Given the description of an element on the screen output the (x, y) to click on. 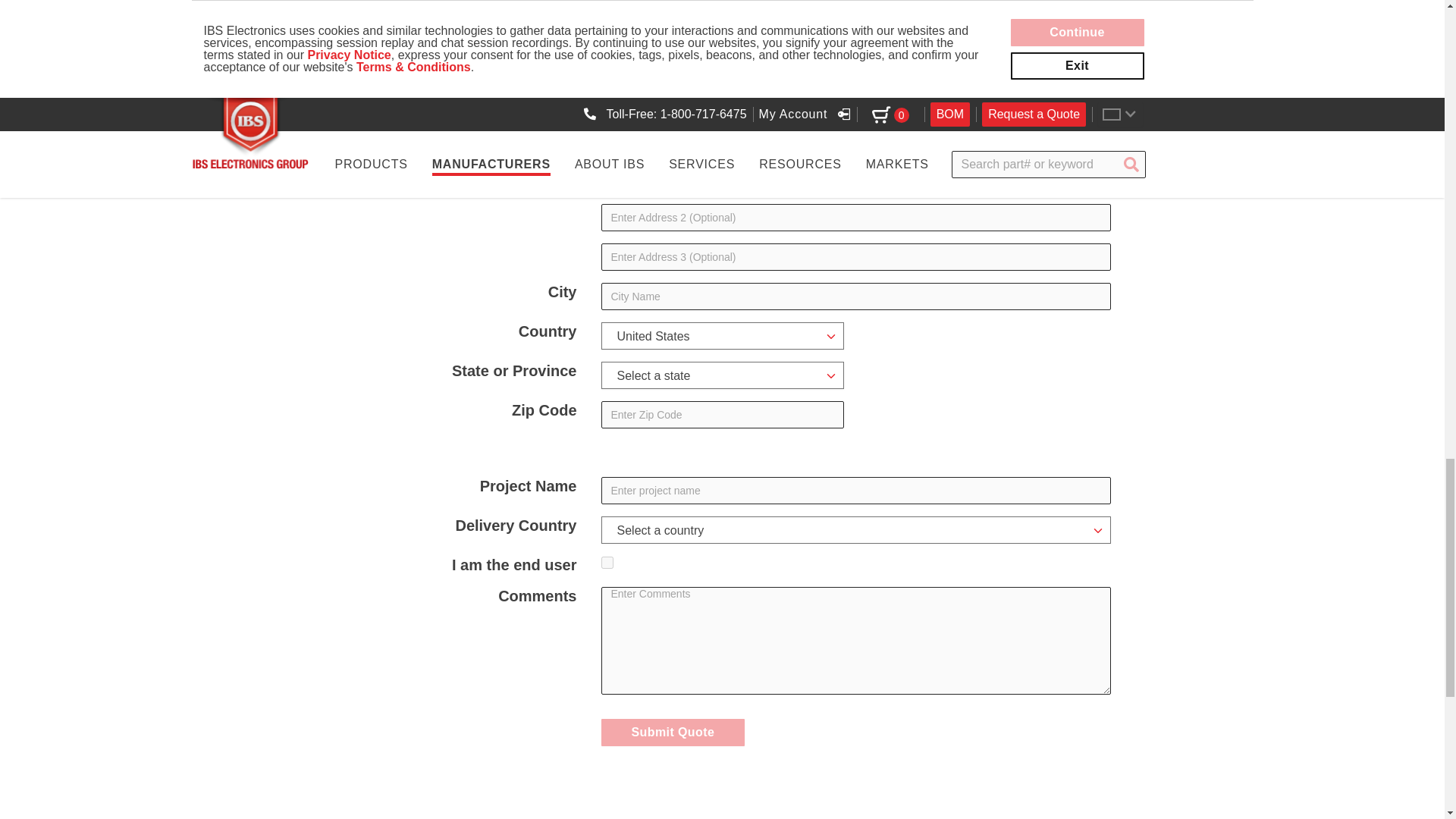
true (605, 562)
